Given the description of an element on the screen output the (x, y) to click on. 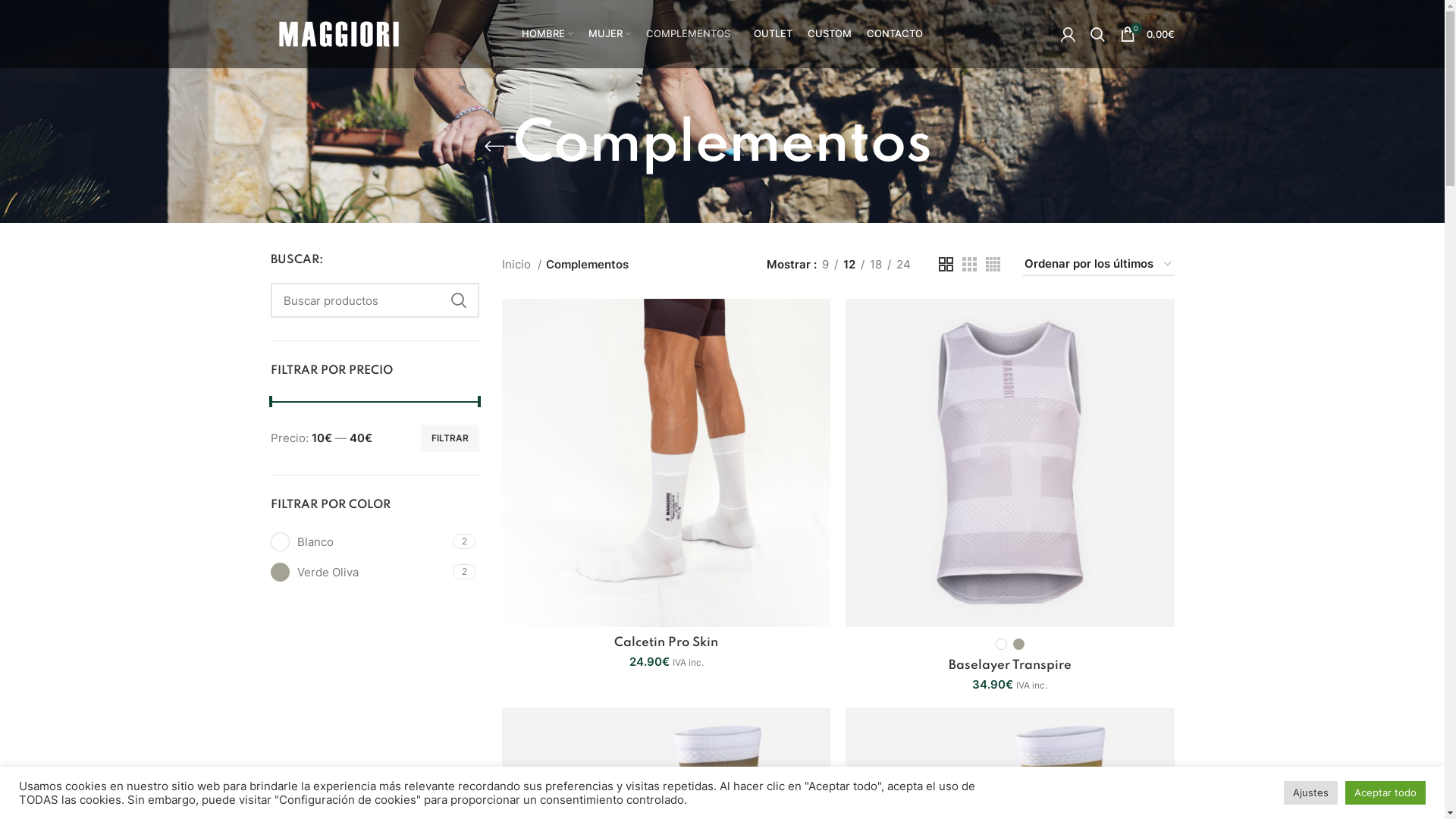
COMPLEMENTOS Element type: text (692, 33)
Baselayer Transpire Element type: text (1009, 664)
Aceptar todo Element type: text (1385, 792)
FILTRAR Element type: text (449, 437)
24 Element type: text (902, 264)
OUTLET Element type: text (773, 33)
Ajustes Element type: text (1310, 792)
BUSCAR Element type: text (458, 299)
My account Element type: hover (1067, 33)
Buscar productos Element type: hover (374, 299)
Verde Oliva
Verde Oliva Element type: text (358, 571)
Calcetin Pro Skin Element type: text (666, 642)
9 Element type: text (824, 264)
CONTACTO Element type: text (894, 33)
CUSTOM Element type: text (829, 33)
Blanco
Blanco Element type: text (358, 541)
18 Element type: text (875, 264)
HOMBRE Element type: text (547, 33)
Search Element type: hover (1097, 33)
12 Element type: text (848, 264)
Inicio Element type: text (521, 264)
MUJER Element type: text (609, 33)
